Given the description of an element on the screen output the (x, y) to click on. 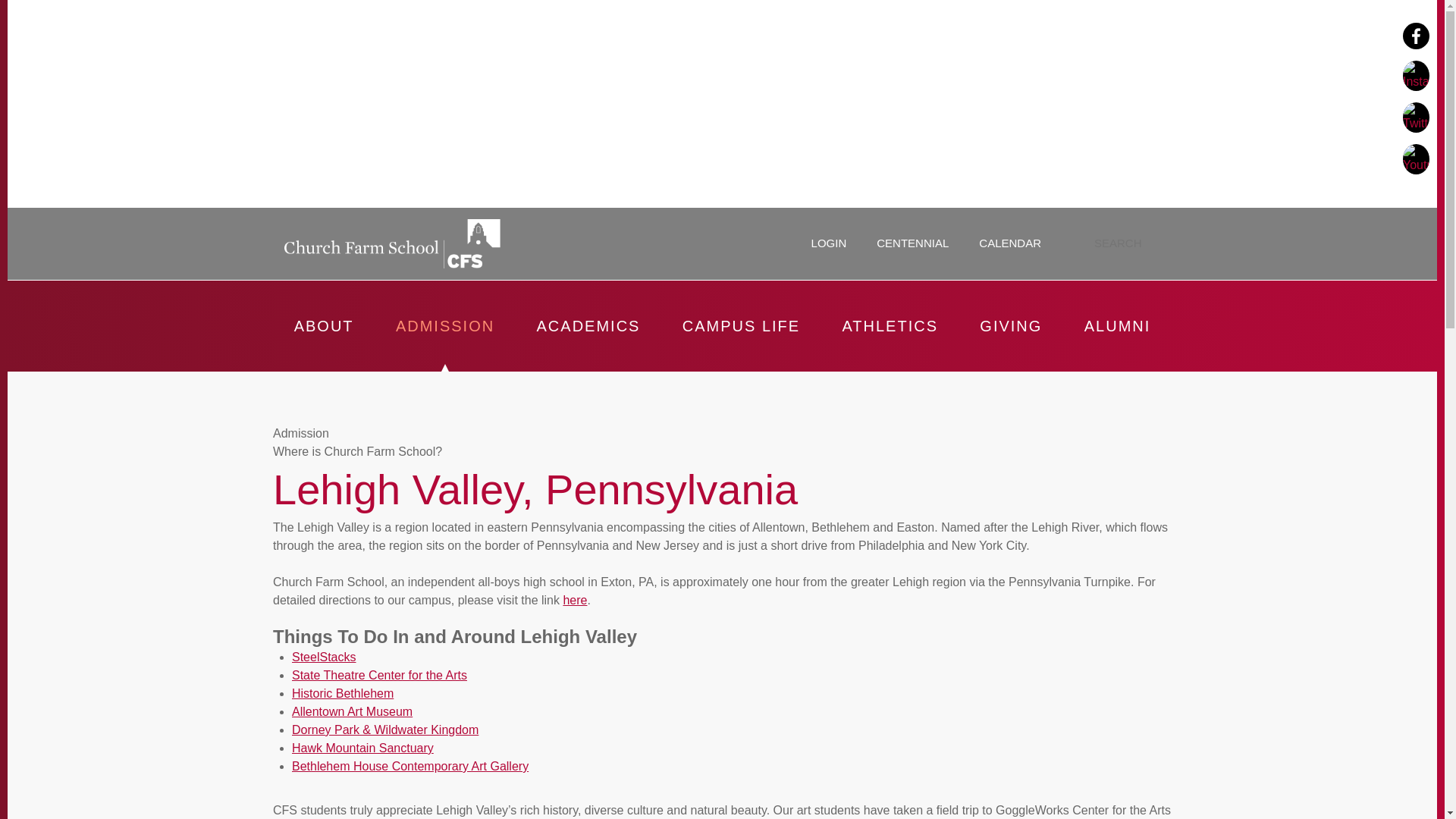
Go (1159, 242)
